Given the description of an element on the screen output the (x, y) to click on. 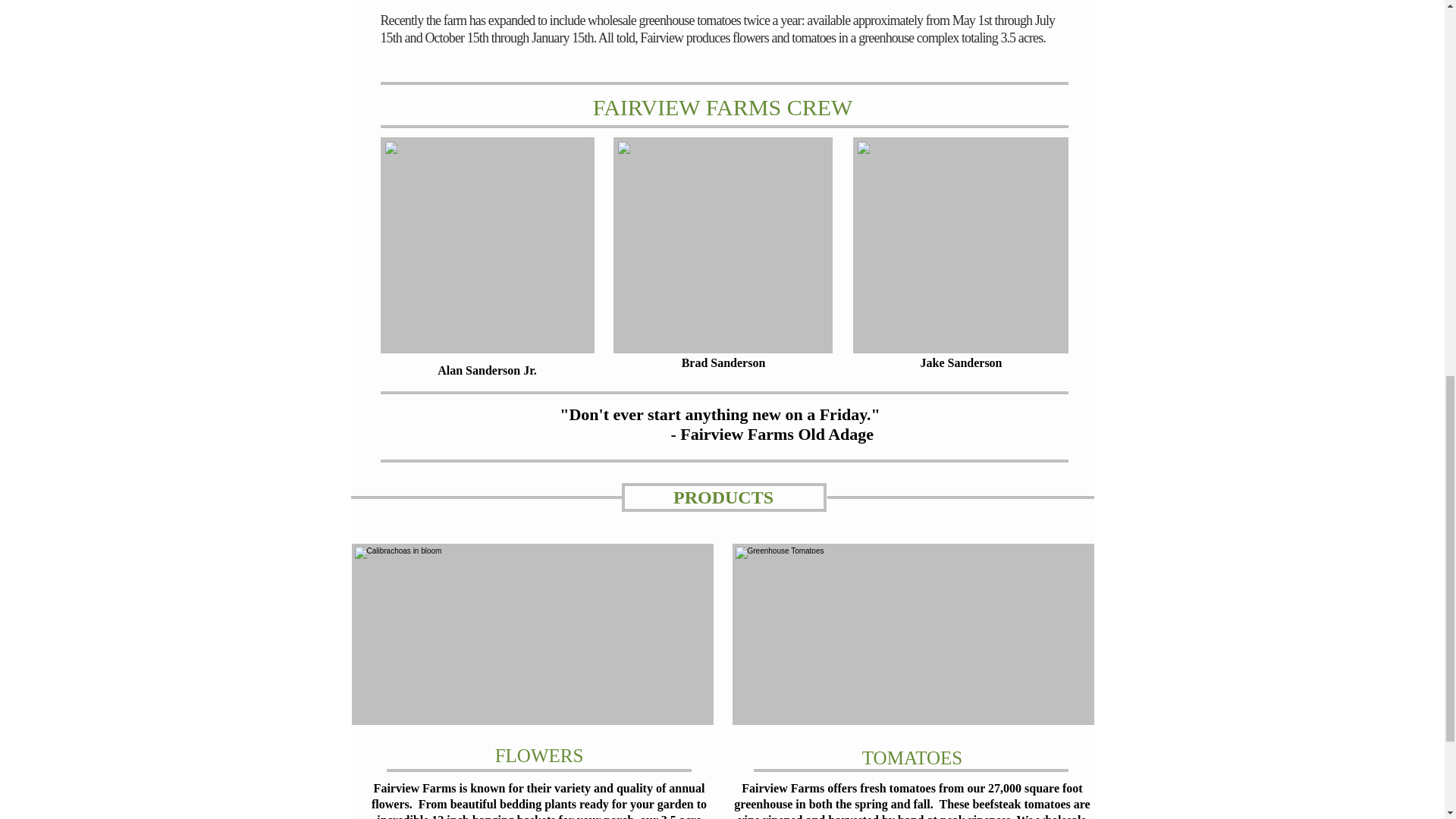
Jake Sanderson.JPG (959, 244)
